Given the description of an element on the screen output the (x, y) to click on. 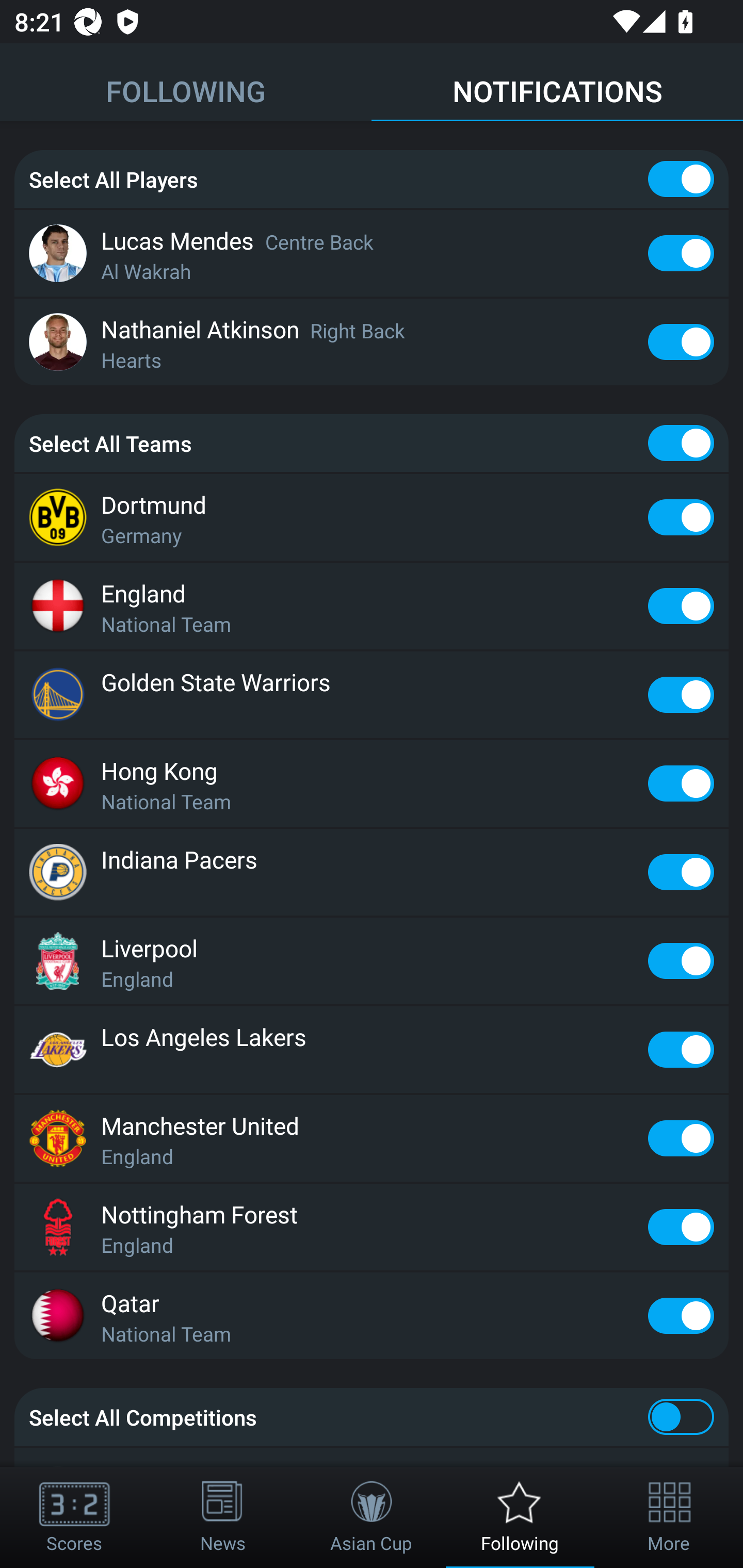
FOLLOWING (185, 81)
NOTIFICATIONS (557, 81)
Select All Players (371, 179)
Lucas Mendes Centre Back Al Wakrah (371, 253)
Nathaniel Atkinson Right Back Hearts (371, 341)
Select All Teams (371, 442)
Dortmund Germany (371, 517)
England National Team (371, 605)
Golden State Warriors (371, 694)
Hong Kong National Team (371, 783)
Indiana Pacers (371, 872)
Liverpool England (371, 960)
Los Angeles Lakers (371, 1049)
Manchester United England (371, 1138)
Nottingham Forest England (371, 1226)
Qatar National Team (371, 1316)
Select All Competitions (371, 1416)
Scores (74, 1517)
News (222, 1517)
Asian Cup (371, 1517)
More (668, 1517)
